Given the description of an element on the screen output the (x, y) to click on. 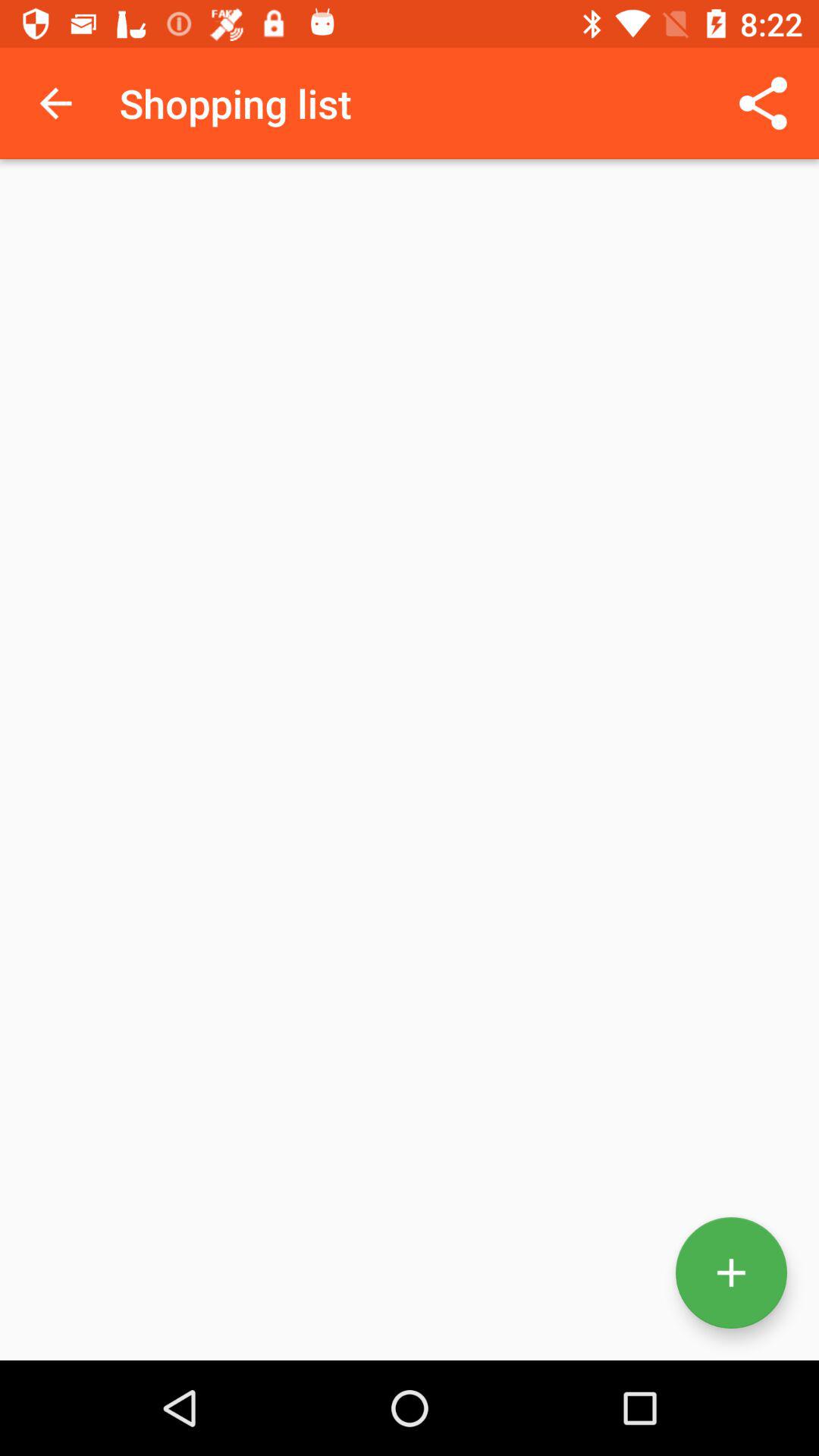
select the icon at the bottom right corner (731, 1272)
